Given the description of an element on the screen output the (x, y) to click on. 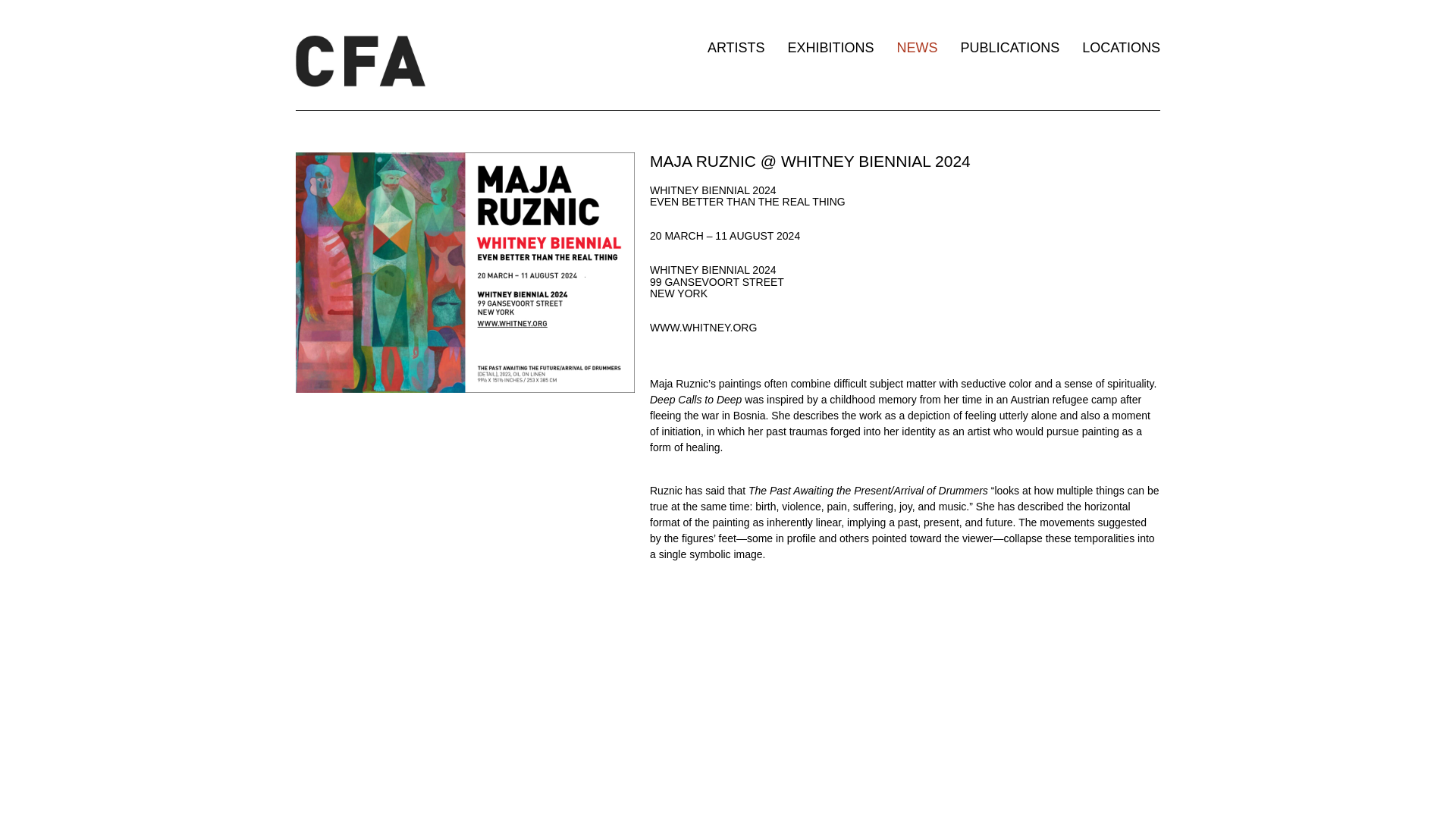
ARTISTS (736, 48)
cfa-logo-cropped (360, 60)
EXHIBITIONS (831, 48)
LOCATIONS (1120, 48)
PUBLICATIONS (1009, 48)
NEWS (916, 48)
